Given the description of an element on the screen output the (x, y) to click on. 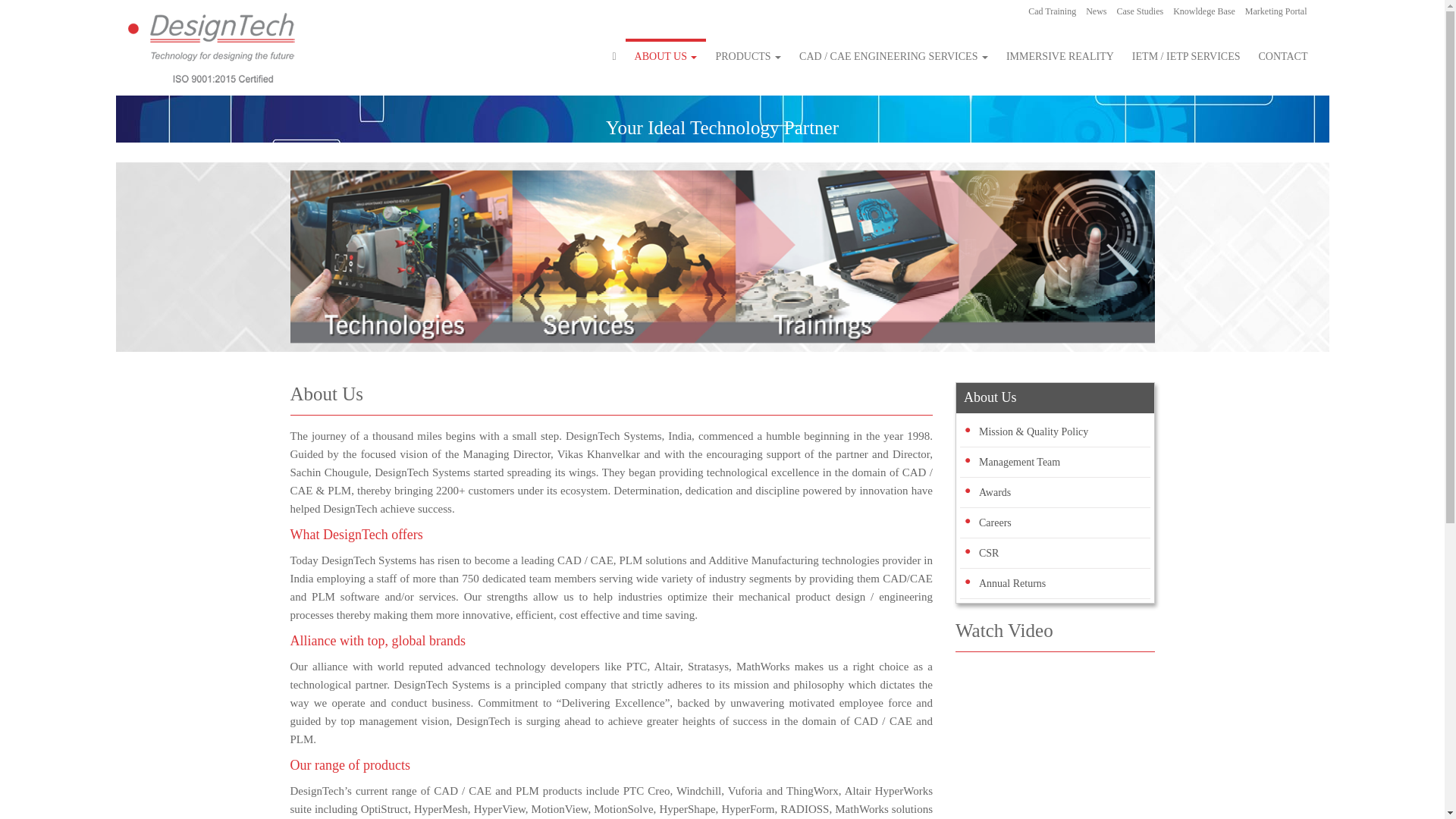
News (1096, 15)
CONTACT (1283, 55)
ABOUT US (666, 55)
Awards (994, 491)
IMMERSIVE REALITY (1059, 55)
Careers (994, 522)
Knowldege Base (1205, 15)
PRODUCTS (748, 55)
Cad Training (1053, 15)
